Given the description of an element on the screen output the (x, y) to click on. 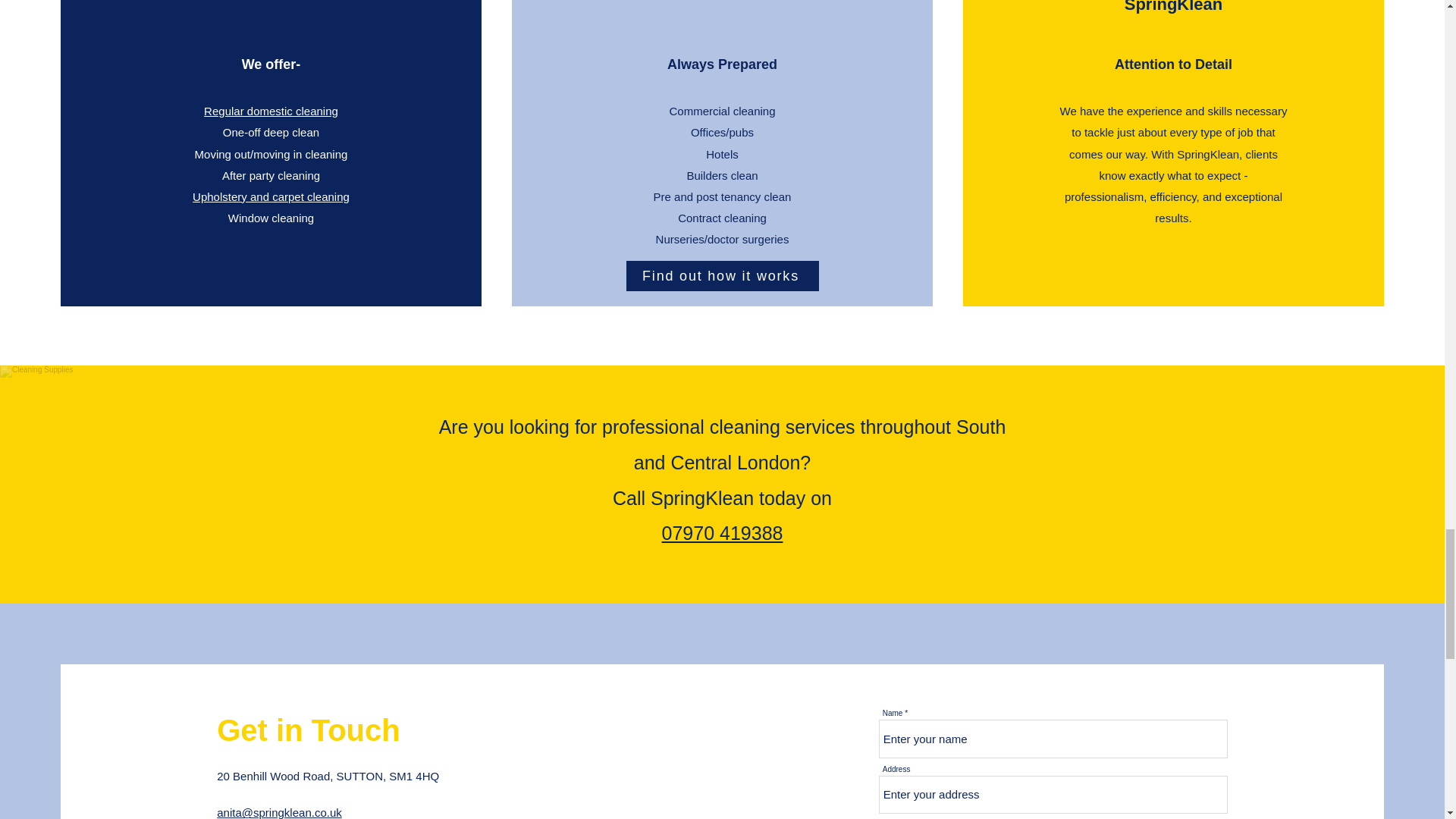
07970 419388 (722, 532)
Regular domestic cleaning (270, 110)
Upholstery and carpet cleaning (270, 196)
Find out how it works (722, 276)
